Given the description of an element on the screen output the (x, y) to click on. 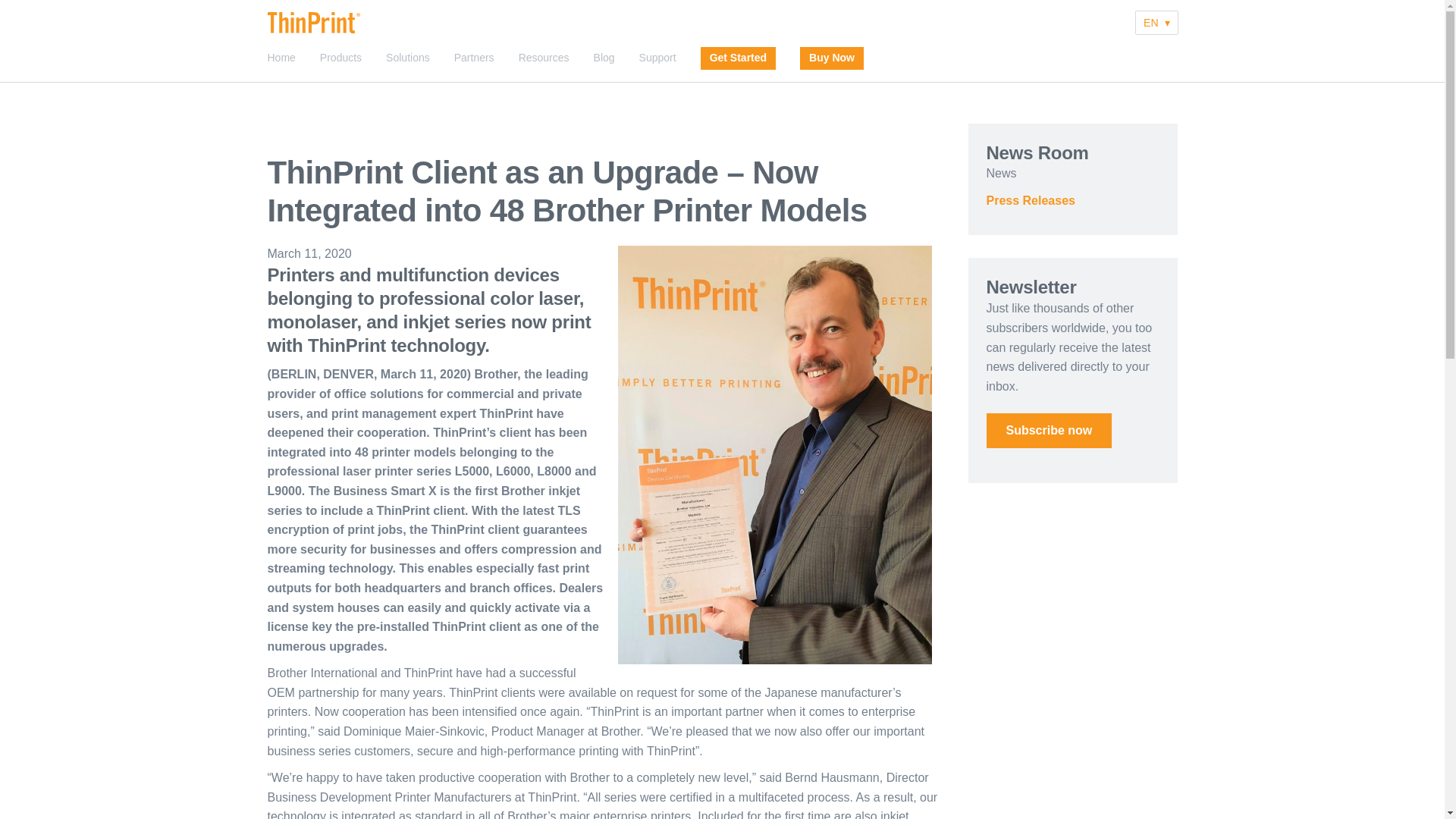
Buy Now (831, 57)
Newsletter (1048, 430)
News (1000, 173)
Press Releases (1029, 200)
Subscribe now (1048, 430)
Get Started (738, 57)
Solutions (407, 57)
EN (1155, 22)
Resources (543, 57)
